Given the description of an element on the screen output the (x, y) to click on. 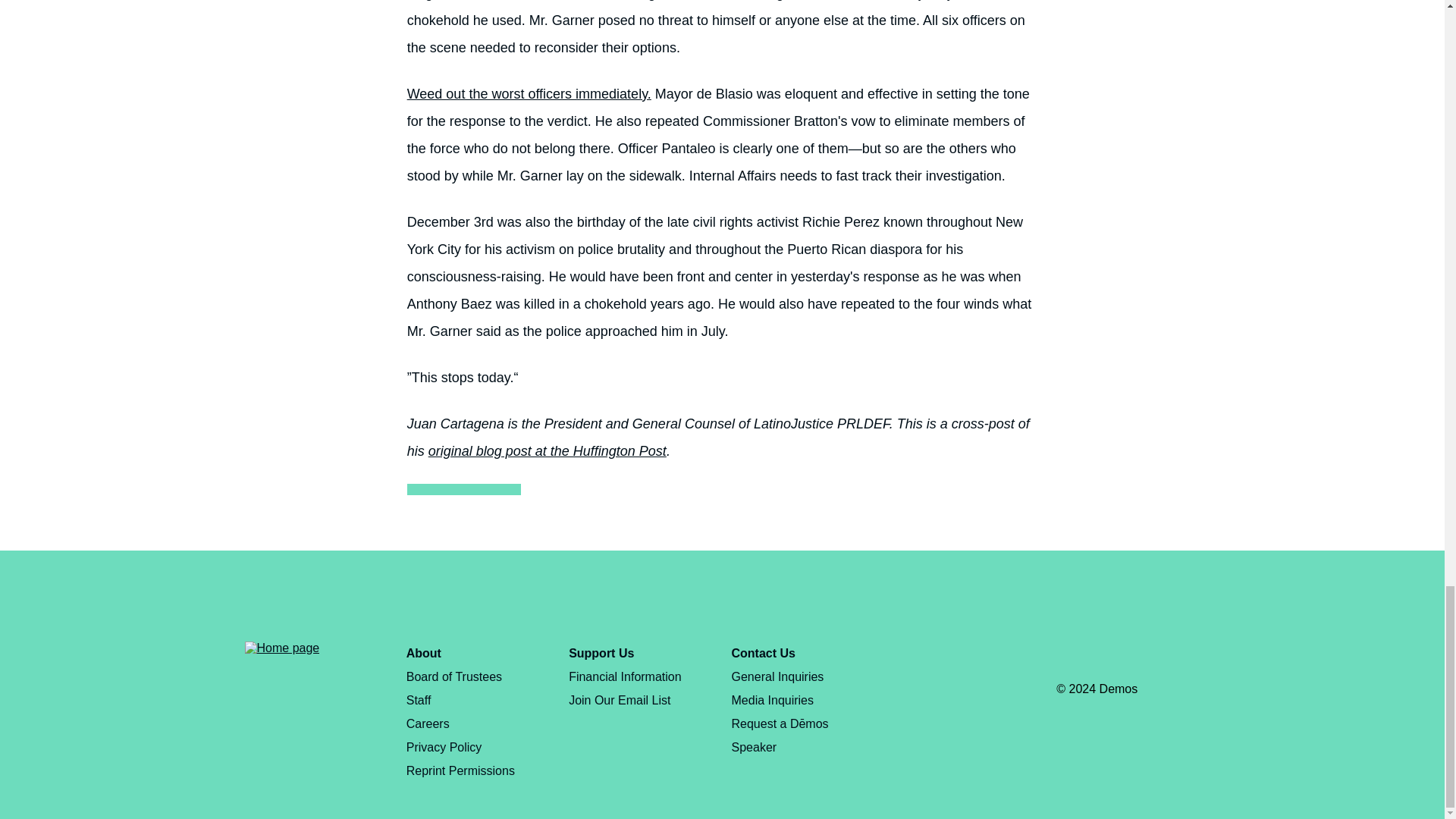
Contact Us (763, 653)
Facebook (1068, 655)
Twitter (1099, 655)
Support Us (601, 653)
original blog post at the Huffington Post (547, 450)
Careers (427, 723)
About Demos (423, 653)
Home (281, 647)
Instagram (1130, 655)
Board of Trustees (454, 676)
